Given the description of an element on the screen output the (x, y) to click on. 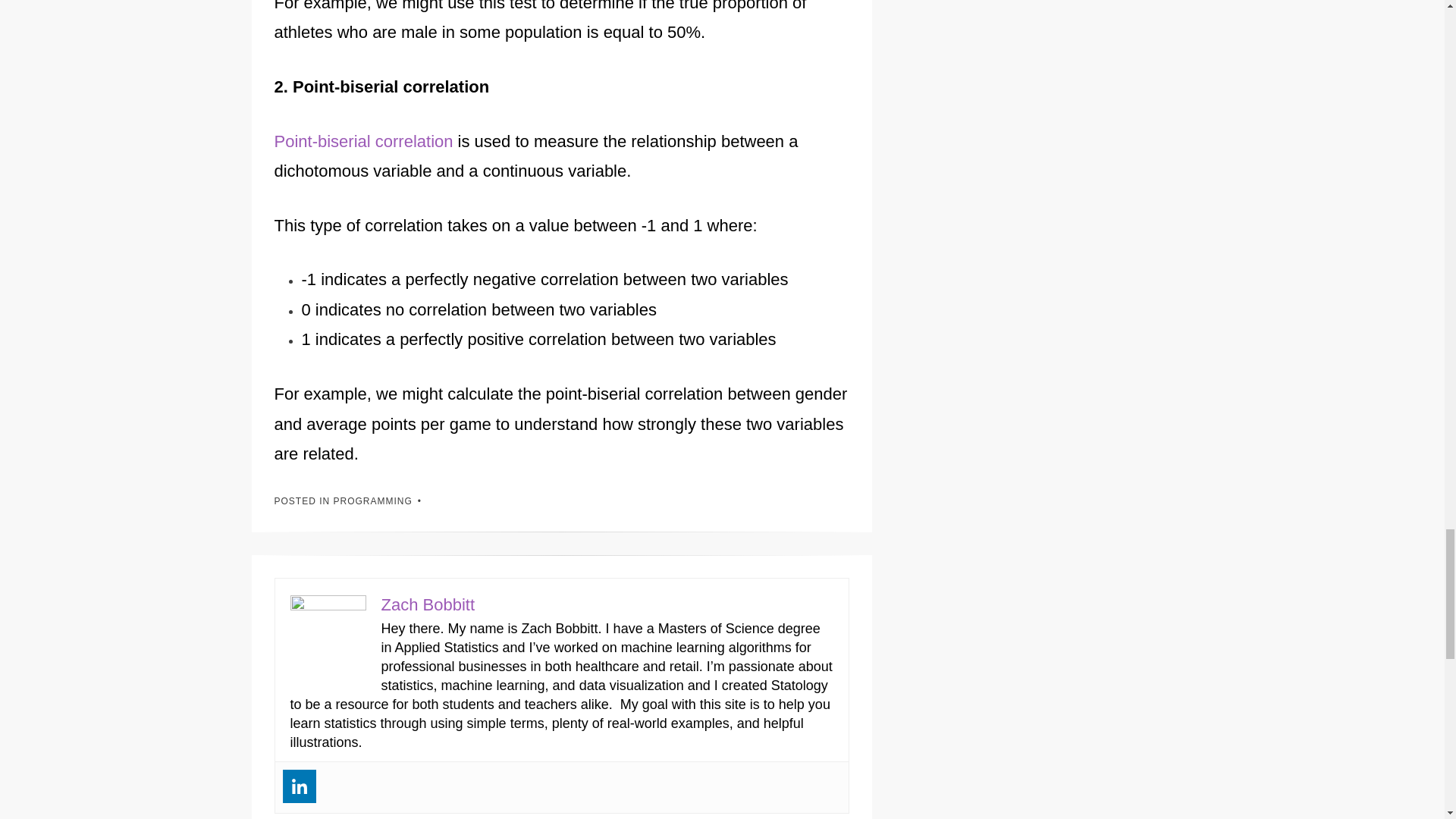
Point-biserial correlation (363, 140)
Zach Bobbitt (427, 604)
Linkedin (298, 786)
PROGRAMMING (372, 501)
